Given the description of an element on the screen output the (x, y) to click on. 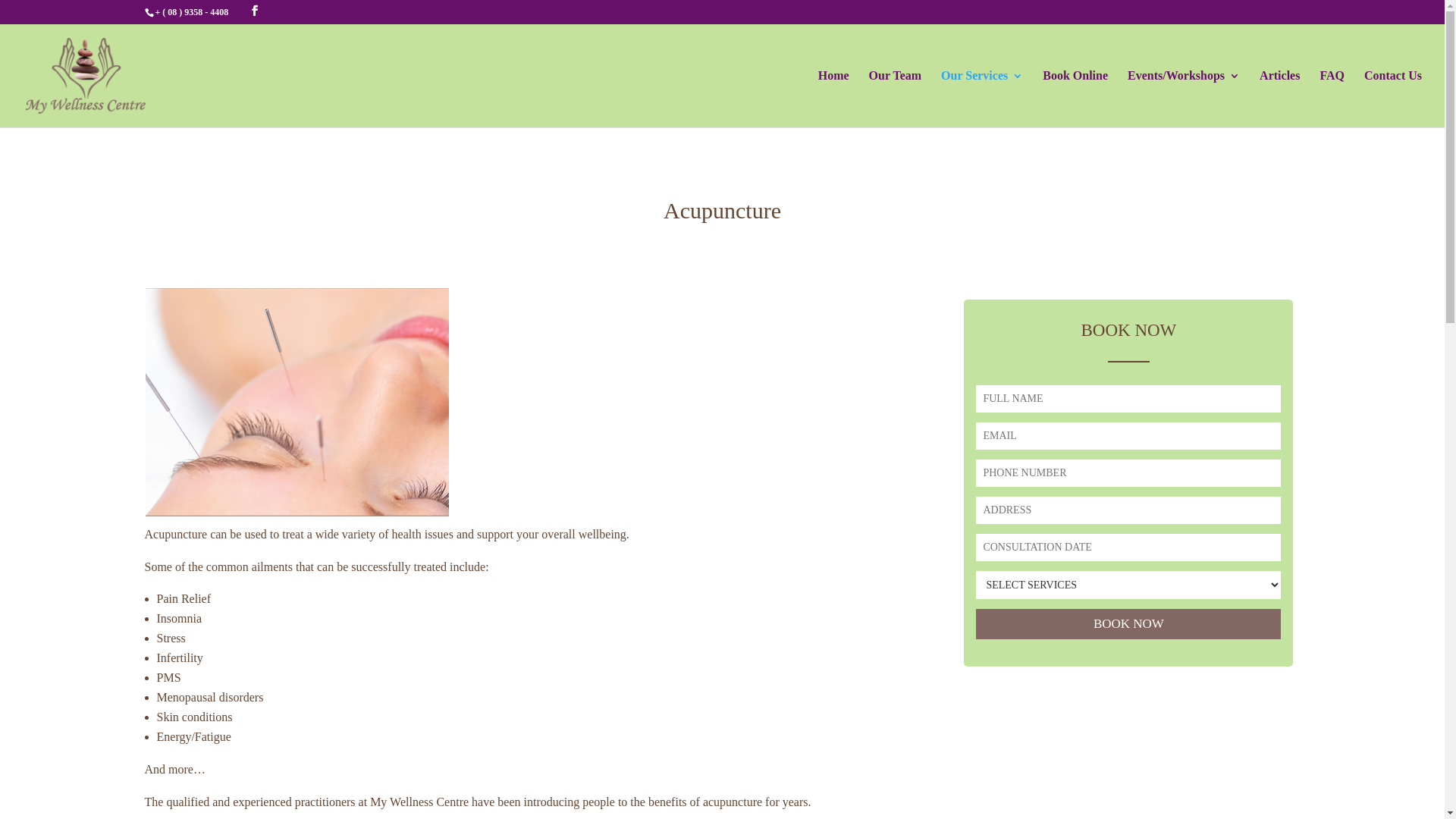
Our Team Element type: text (895, 98)
Contact Us Element type: text (1392, 98)
+ ( 08 ) 9358 - 4408 Element type: text (191, 11)
Book Online Element type: text (1074, 98)
Home Element type: text (833, 98)
Articles Element type: text (1279, 98)
Our Services Element type: text (981, 98)
FAQ Element type: text (1331, 98)
Events/Workshops Element type: text (1183, 98)
BOOK NOW Element type: text (1127, 623)
